Given the description of an element on the screen output the (x, y) to click on. 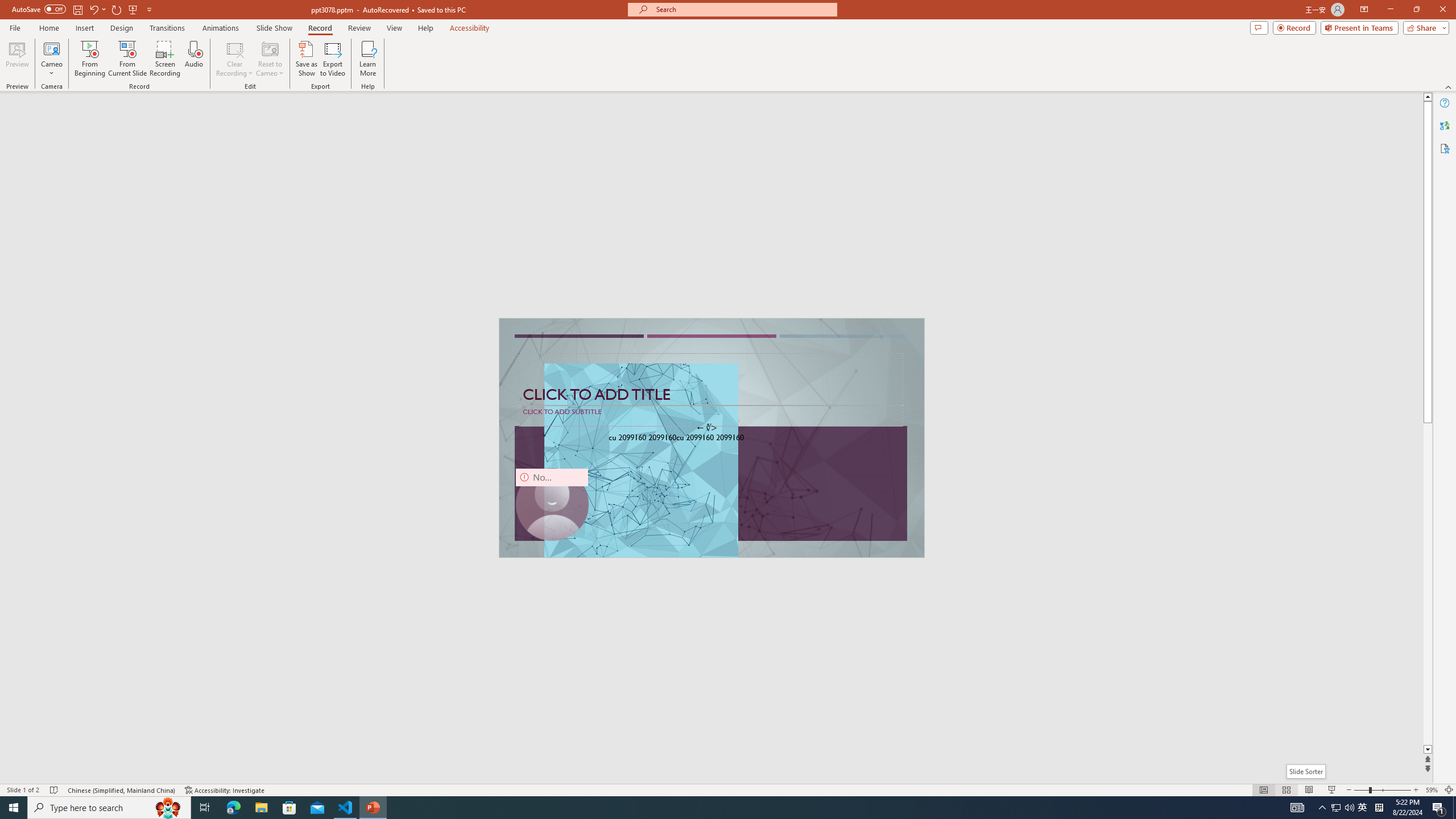
An abstract genetic concept (711, 437)
Screen Recording (165, 58)
TextBox 7 (706, 427)
